Given the description of an element on the screen output the (x, y) to click on. 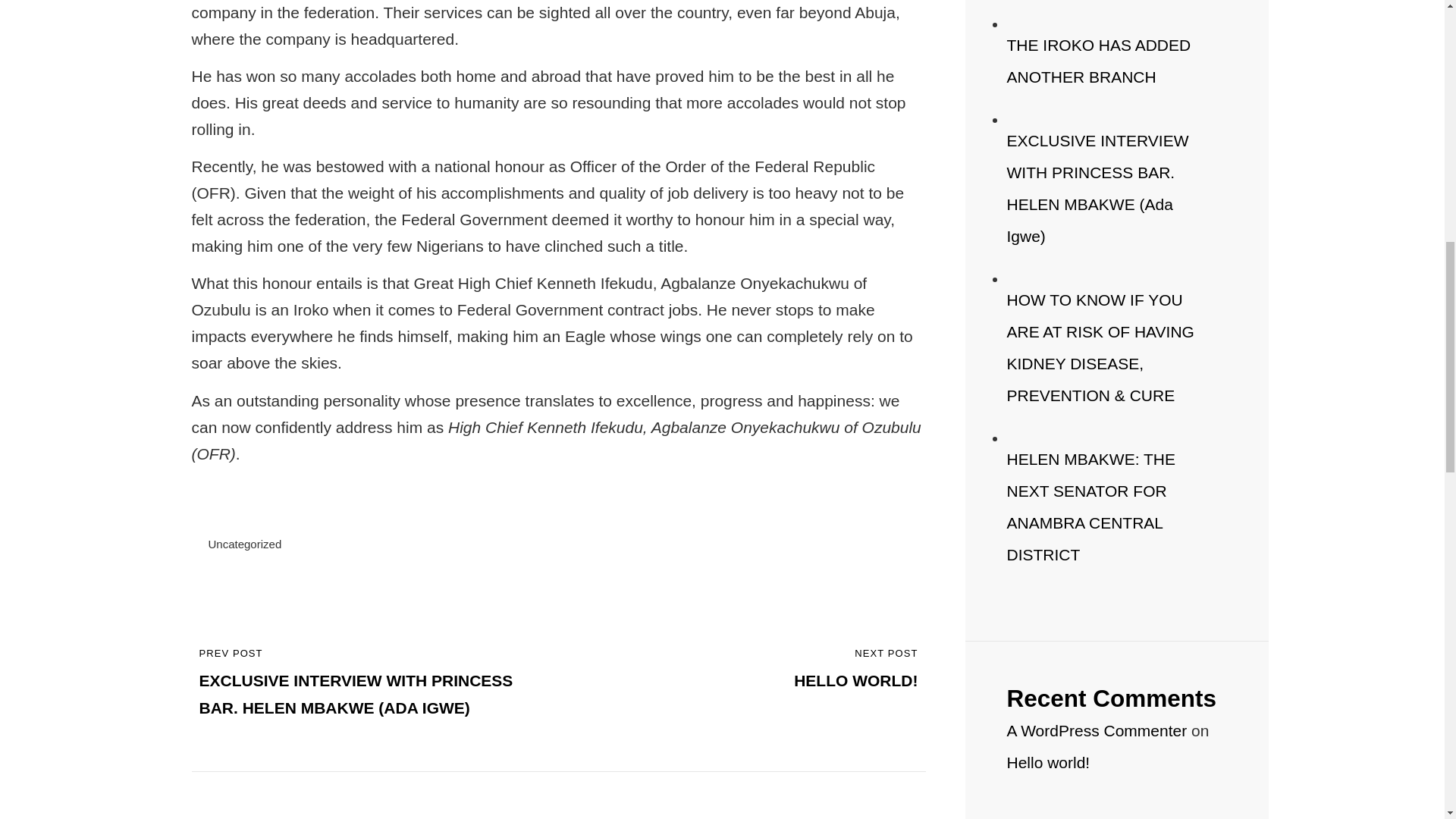
A WordPress Commenter (1097, 730)
HELEN MBAKWE: THE NEXT SENATOR FOR ANAMBRA CENTRAL DISTRICT (749, 669)
Hello world! (1091, 506)
THE IROKO HAS ADDED ANOTHER BRANCH  (1048, 762)
Uncategorized (1099, 60)
